Given the description of an element on the screen output the (x, y) to click on. 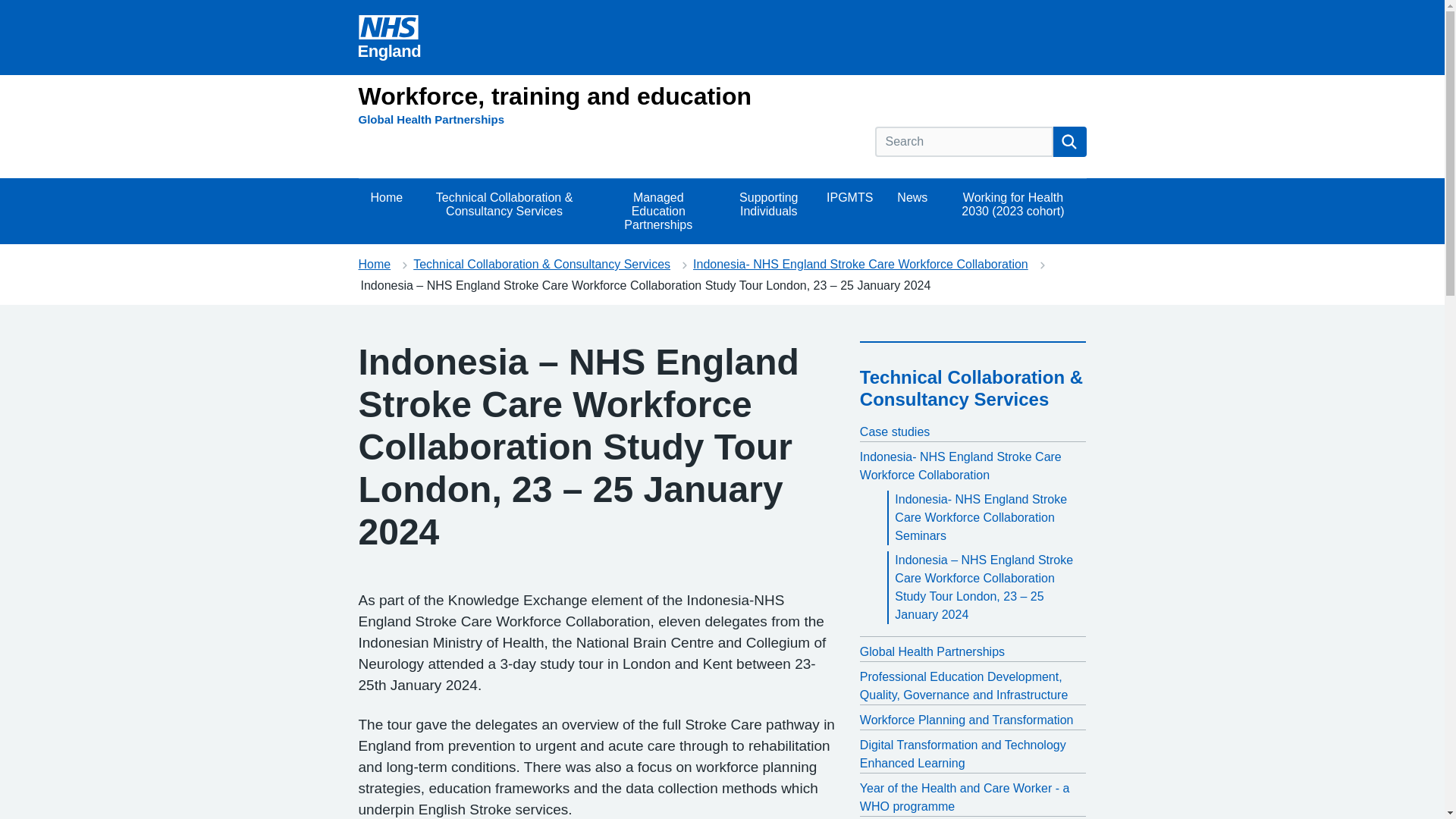
England (389, 37)
Case studies (973, 432)
IPGMTS (849, 211)
Workforce Planning and Transformation (973, 720)
Indonesia- NHS England Stroke Care Workforce Collaboration (860, 264)
Digital Transformation and Technology Enhanced Learning (973, 754)
NHS England (389, 37)
Supporting Individuals (768, 211)
